Given the description of an element on the screen output the (x, y) to click on. 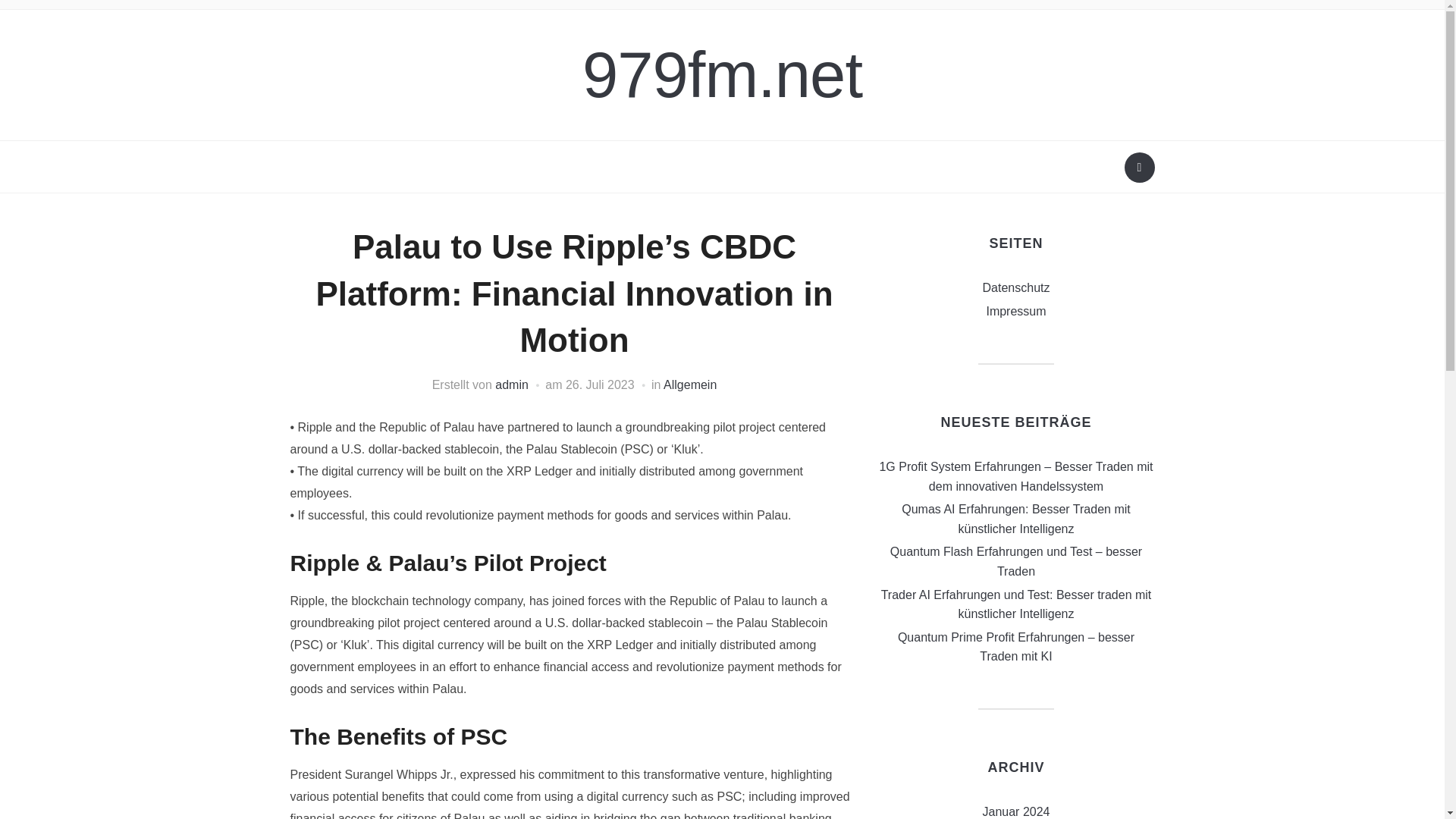
Suchen (1139, 167)
Impressum (1015, 310)
979fm.net (721, 74)
Allgemein (689, 384)
Datenschutz (1015, 287)
Januar 2024 (1015, 811)
admin (511, 384)
